Given the description of an element on the screen output the (x, y) to click on. 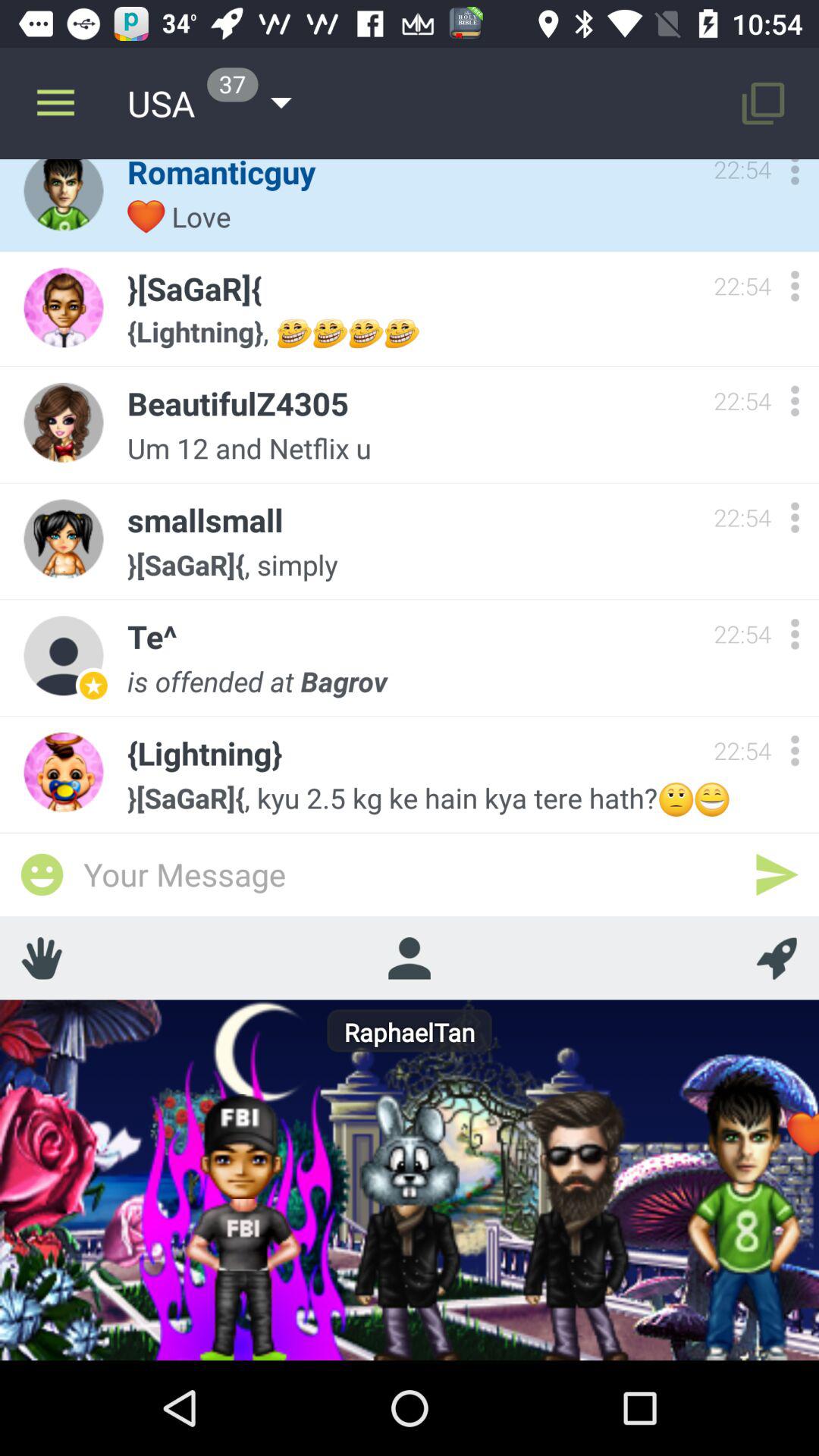
send message (777, 874)
